Given the description of an element on the screen output the (x, y) to click on. 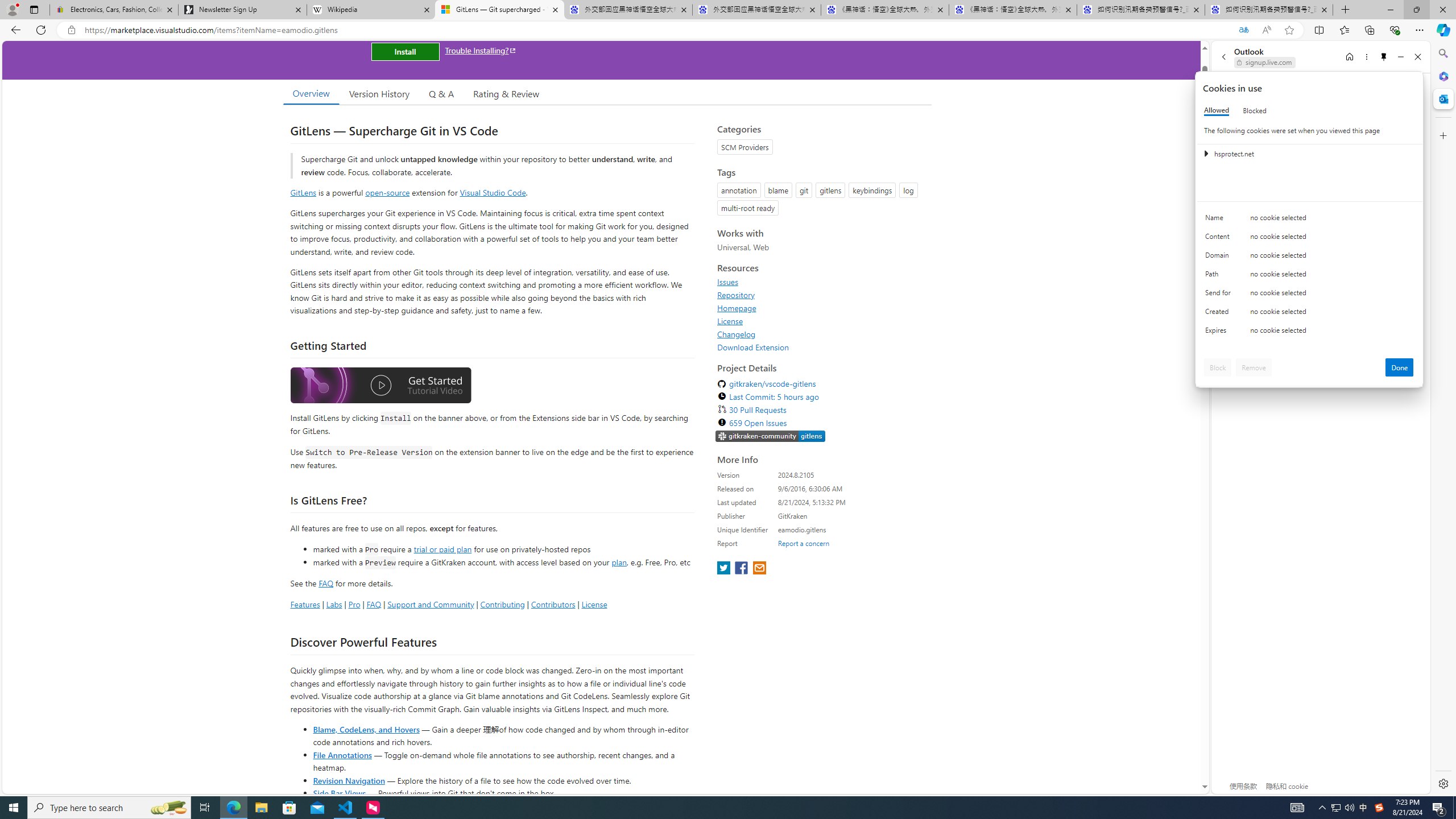
Created (1219, 313)
Content (1219, 239)
no cookie selected (1331, 332)
Class: c0153 c0157 (1309, 332)
Allowed (1216, 110)
Path (1219, 276)
Name (1219, 220)
Done (1399, 367)
Domain (1219, 257)
Expires (1219, 332)
Remove (1253, 367)
Blocked (1255, 110)
Block (1217, 367)
Send for (1219, 295)
Class: c0153 c0157 c0154 (1309, 220)
